Given the description of an element on the screen output the (x, y) to click on. 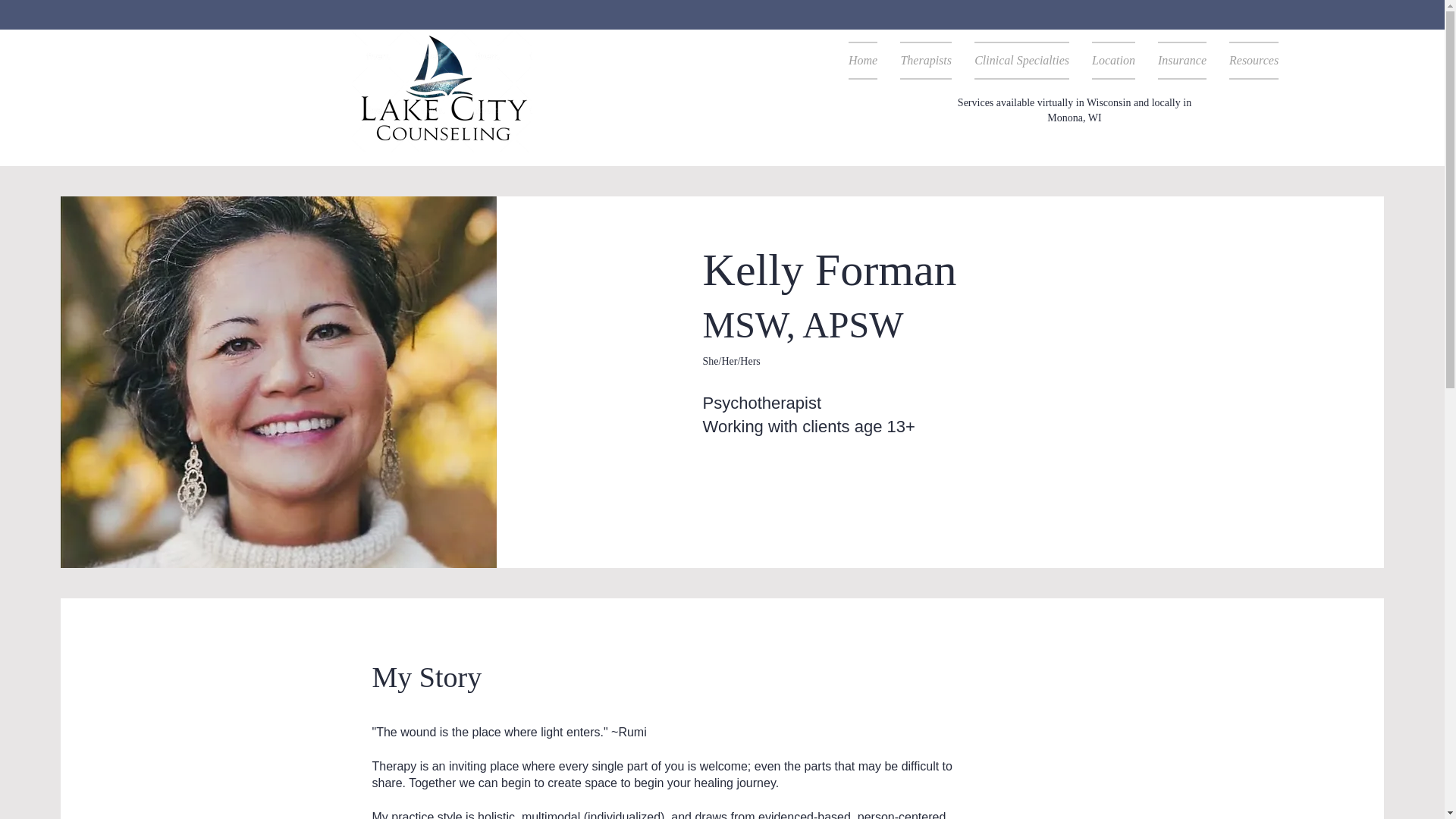
Home (862, 60)
Therapists (925, 60)
Resources (1247, 60)
Location (1113, 60)
Clinical Specialties (1021, 60)
Insurance (1182, 60)
